Given the description of an element on the screen output the (x, y) to click on. 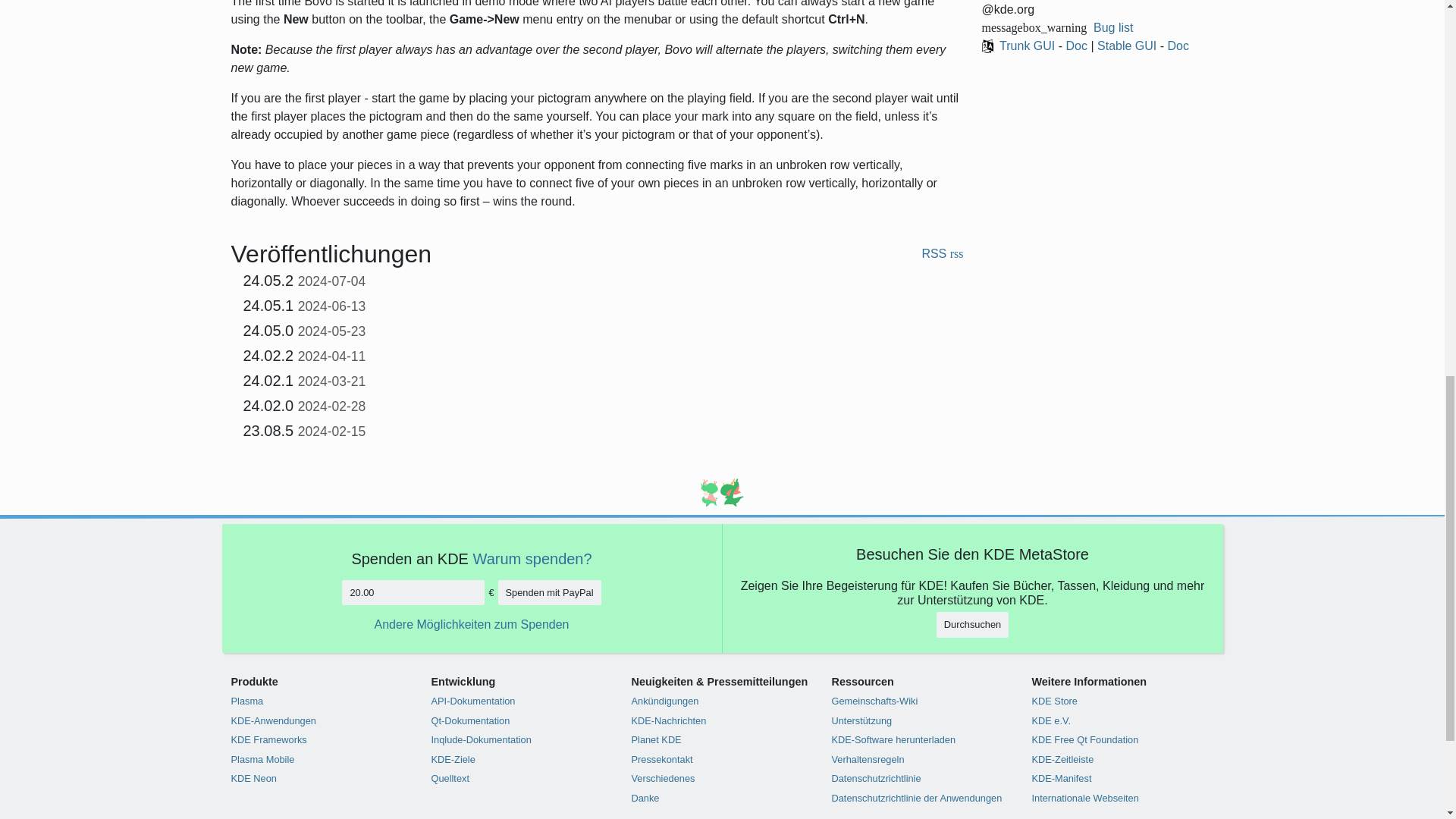
20.00 (413, 592)
